Given the description of an element on the screen output the (x, y) to click on. 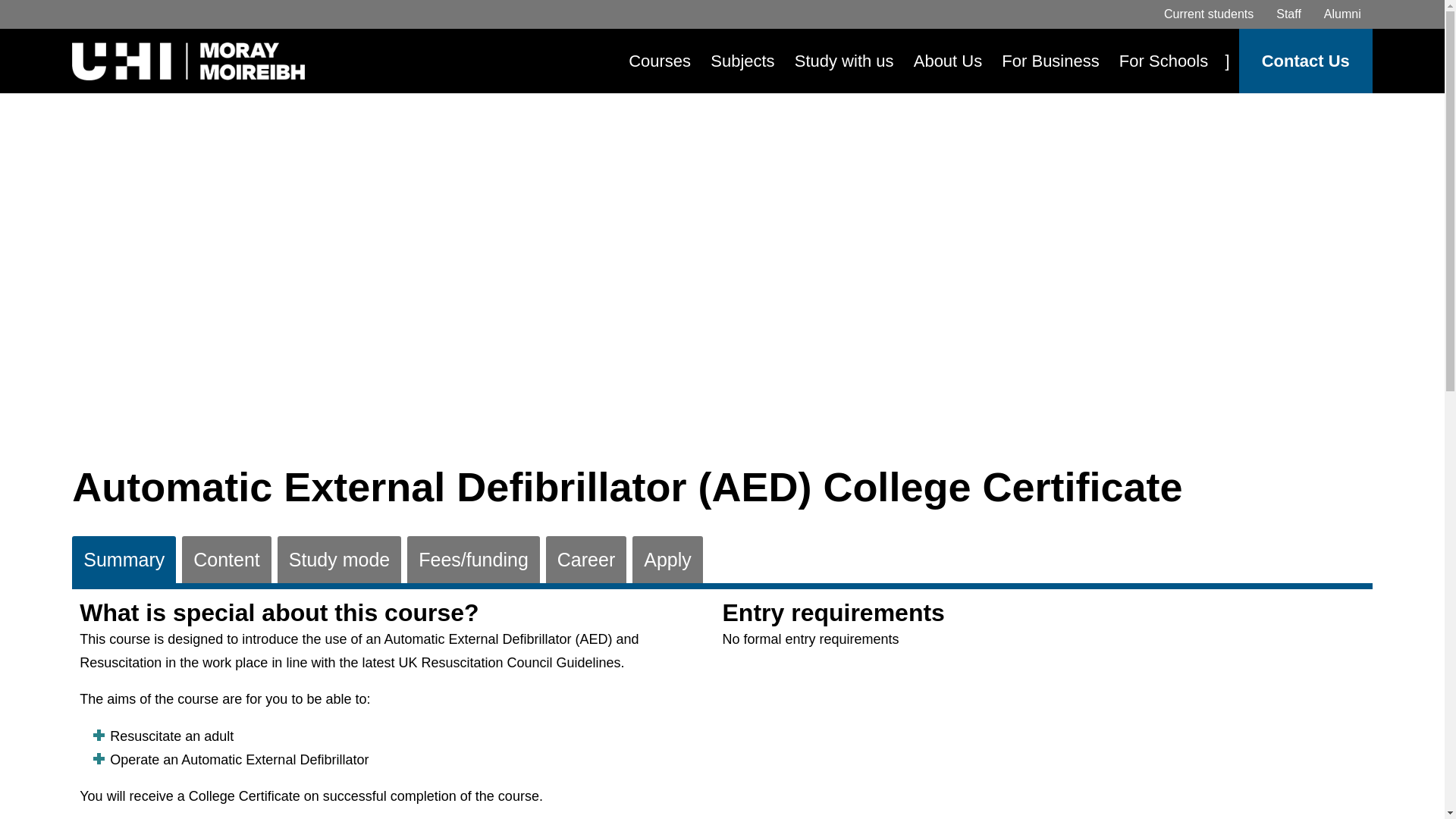
Apply (667, 559)
Career (586, 559)
Subjects (742, 60)
Summary (123, 559)
For Schools (1163, 60)
Courses (659, 60)
For Business (1050, 60)
Staff (1288, 13)
Current students (1208, 13)
Study with us (844, 60)
